Given the description of an element on the screen output the (x, y) to click on. 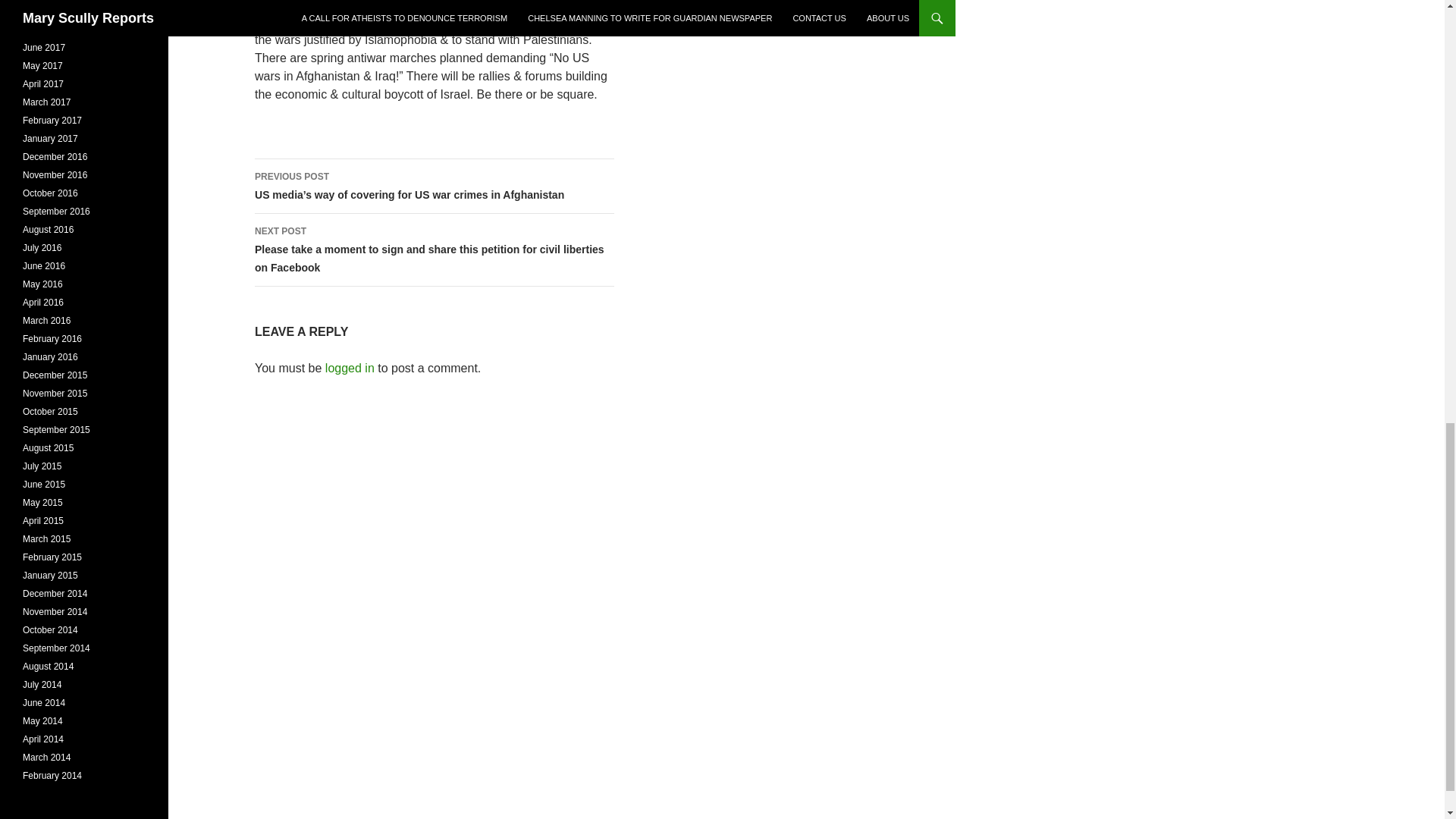
logged in (349, 367)
